Given the description of an element on the screen output the (x, y) to click on. 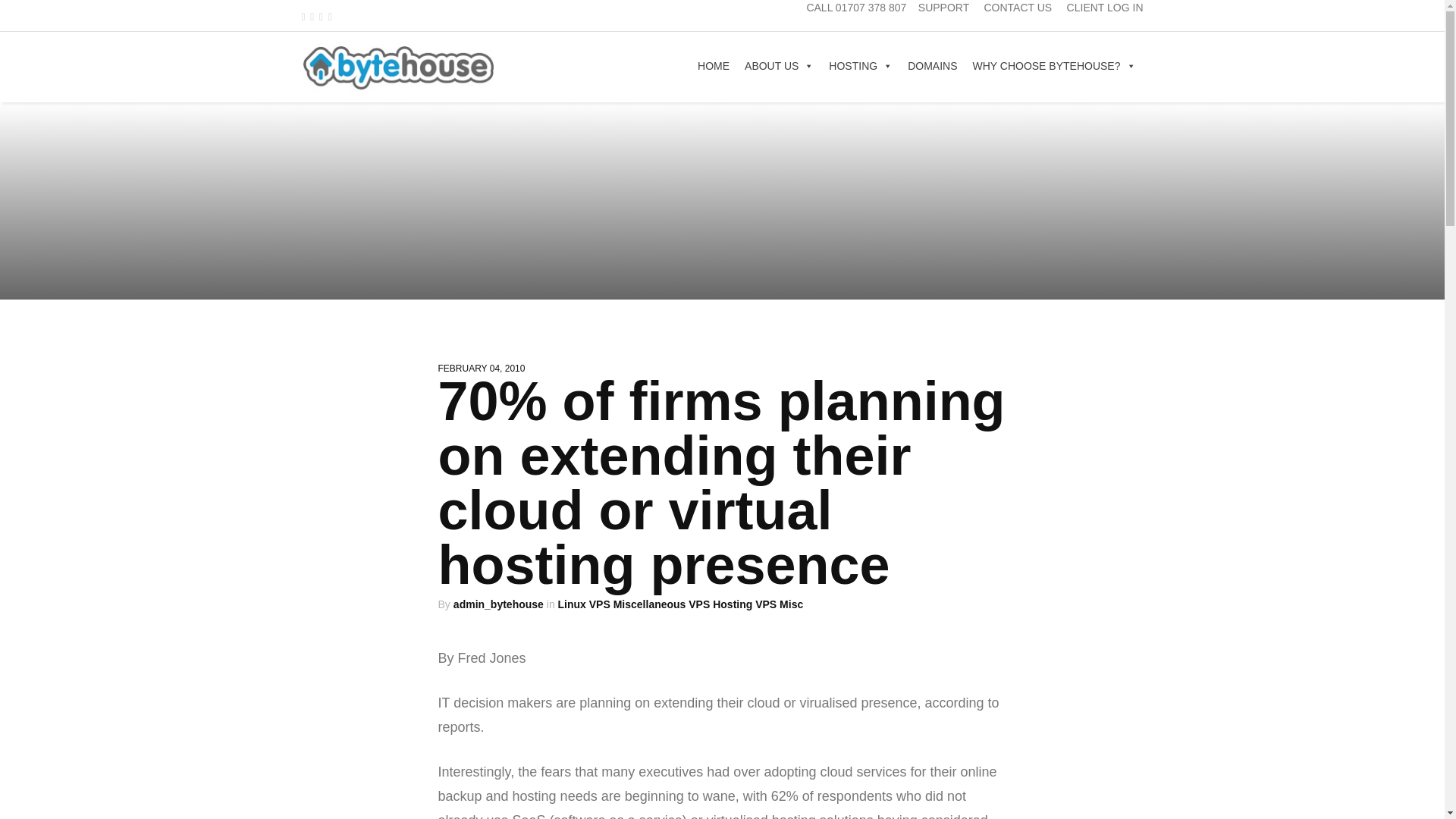
HOSTING (860, 65)
VPS Misc (779, 604)
SUPPORT (943, 7)
CLIENT LOG IN (1104, 7)
Miscellaneous (648, 604)
VPS Hosting (720, 604)
ABOUT US (778, 65)
WHY CHOOSE BYTEHOUSE? (1052, 65)
CONTACT US (1017, 7)
DOMAINS (931, 65)
